Given the description of an element on the screen output the (x, y) to click on. 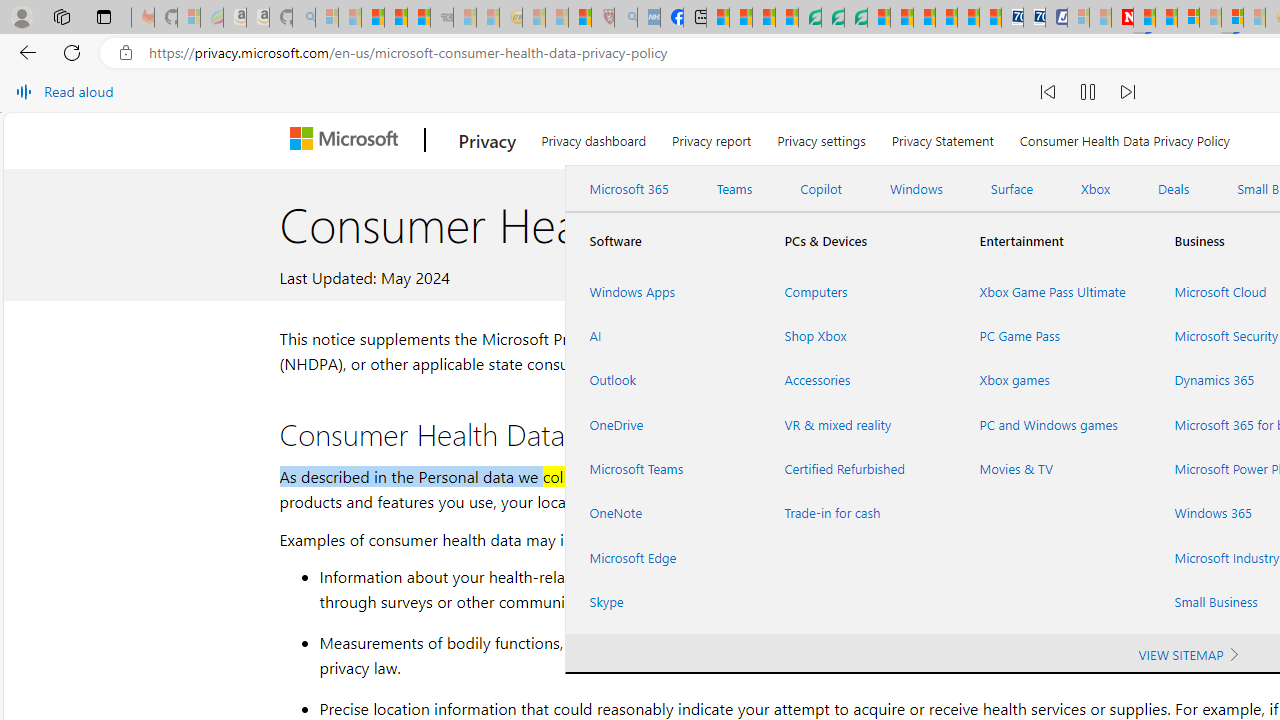
Surface (1012, 189)
Windows Apps (662, 291)
OneNote (662, 513)
Shop Xbox (858, 336)
Latest Politics News & Archive | Newsweek.com (1122, 17)
Personal data we collect (503, 475)
AI (662, 336)
Skype (662, 601)
Xbox Game Pass Ultimate (1052, 291)
